Given the description of an element on the screen output the (x, y) to click on. 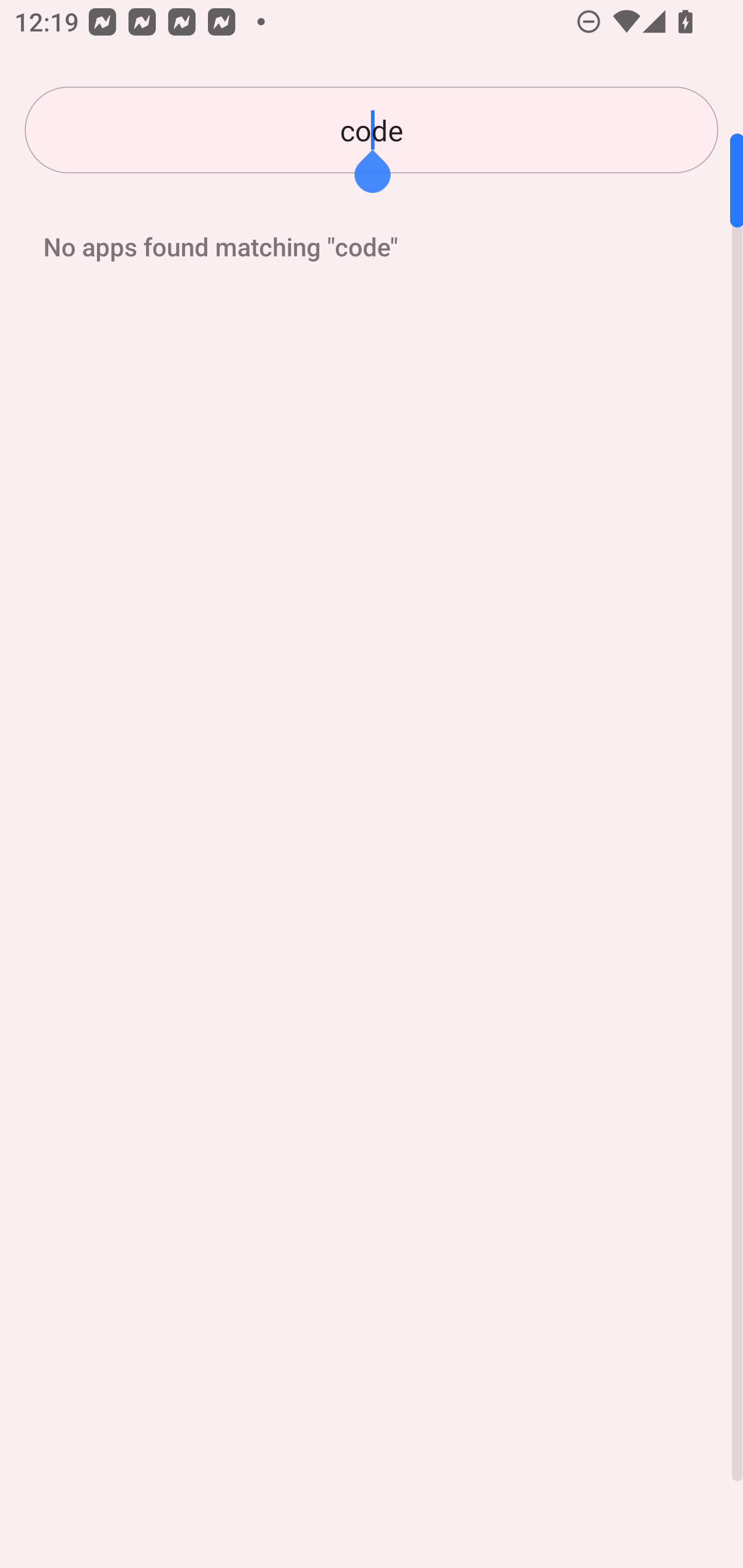
code (371, 130)
